Given the description of an element on the screen output the (x, y) to click on. 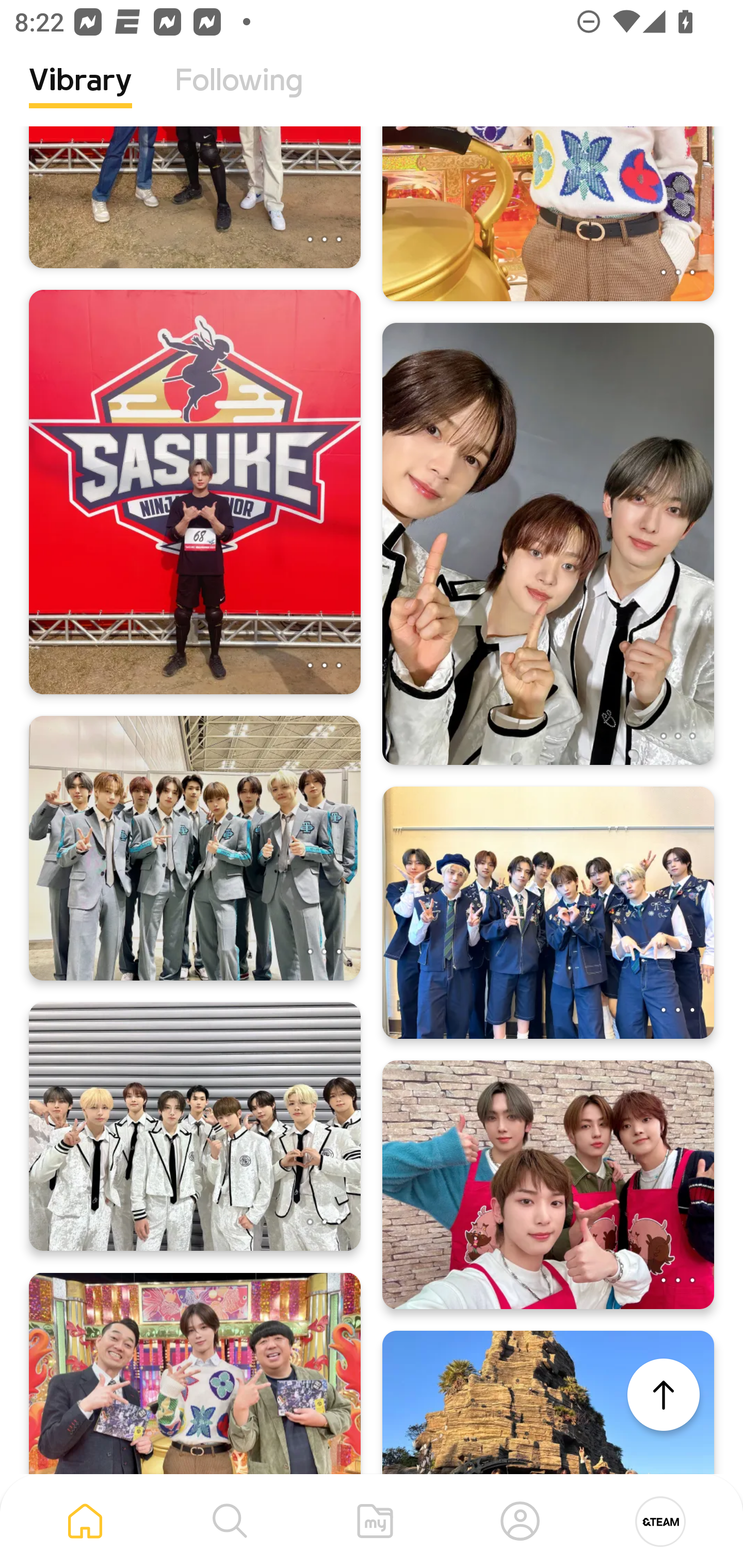
Vibrary (80, 95)
Following (239, 95)
